Given the description of an element on the screen output the (x, y) to click on. 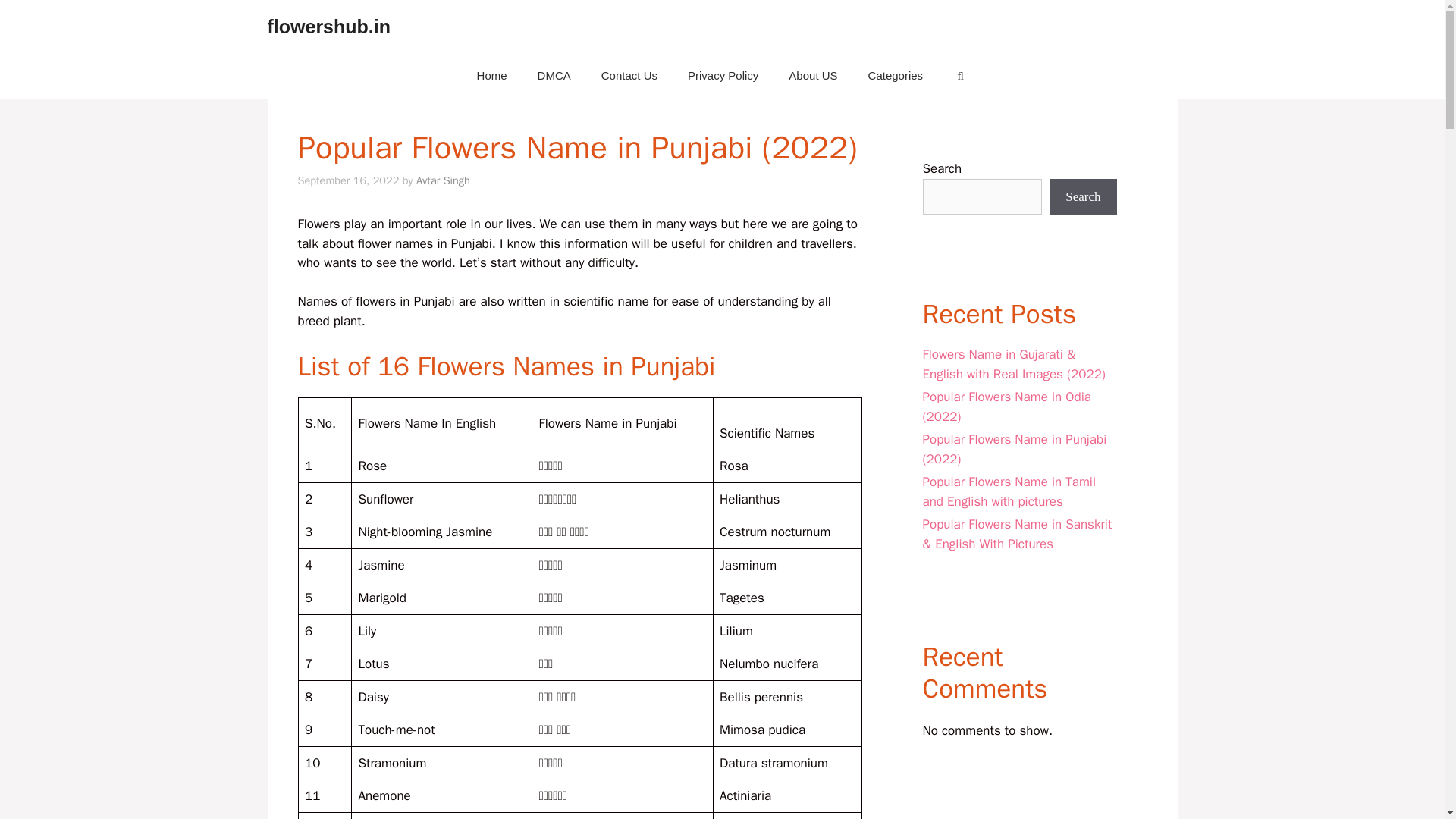
About US (812, 75)
Avtar Singh (443, 180)
Home (491, 75)
DMCA (554, 75)
Popular Flowers Name in Tamil and English with pictures (1008, 491)
Categories (896, 75)
flowershub.in (328, 25)
Search (1082, 197)
Contact Us (629, 75)
Privacy Policy (722, 75)
View all posts by Avtar Singh (443, 180)
